Given the description of an element on the screen output the (x, y) to click on. 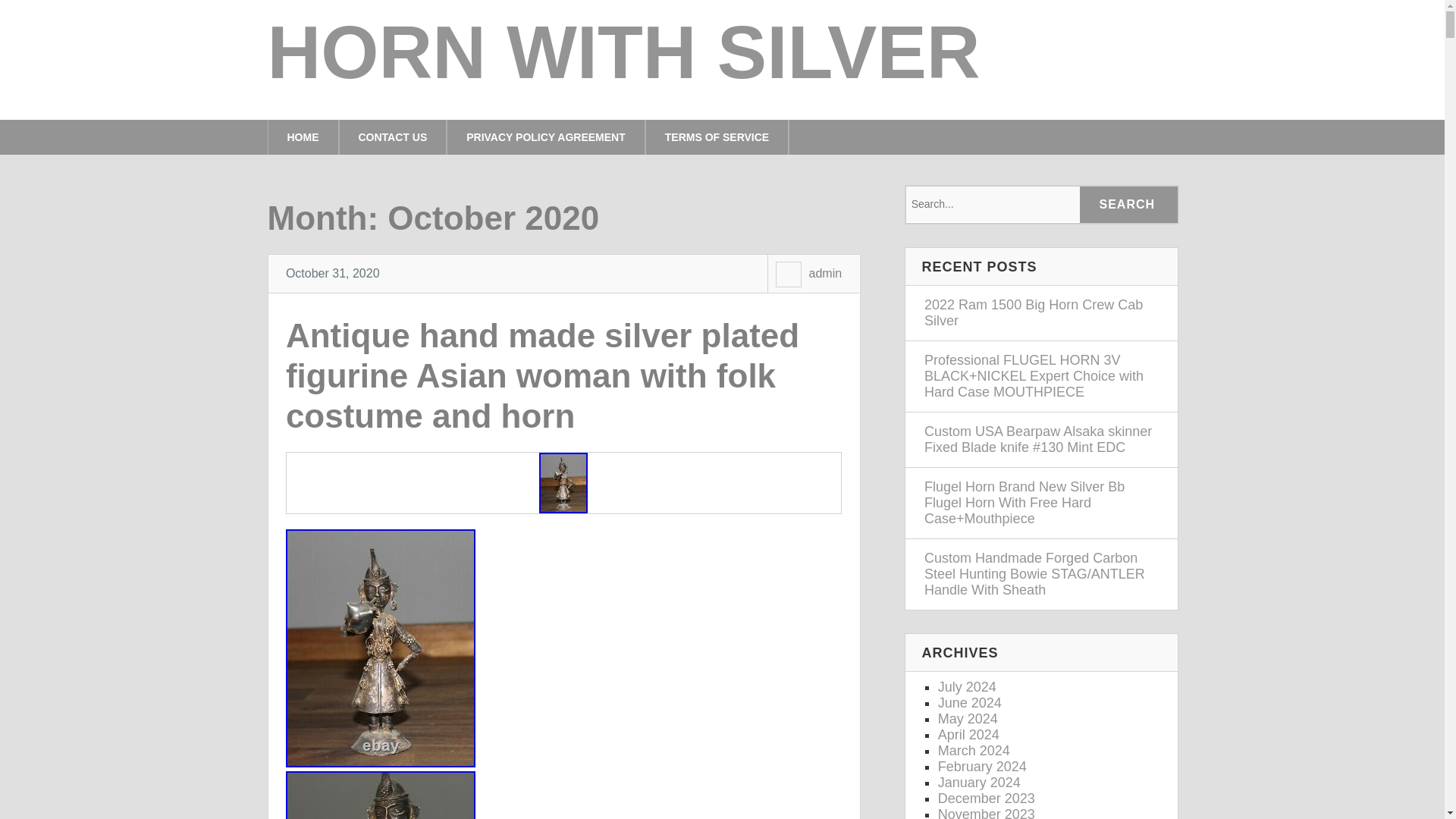
admin (824, 273)
PRIVACY POLICY AGREEMENT (545, 136)
Search (1128, 204)
HOME (301, 136)
horn with silver (622, 52)
CONTACT US (392, 136)
TERMS OF SERVICE (717, 136)
HORN WITH SILVER (622, 52)
